Given the description of an element on the screen output the (x, y) to click on. 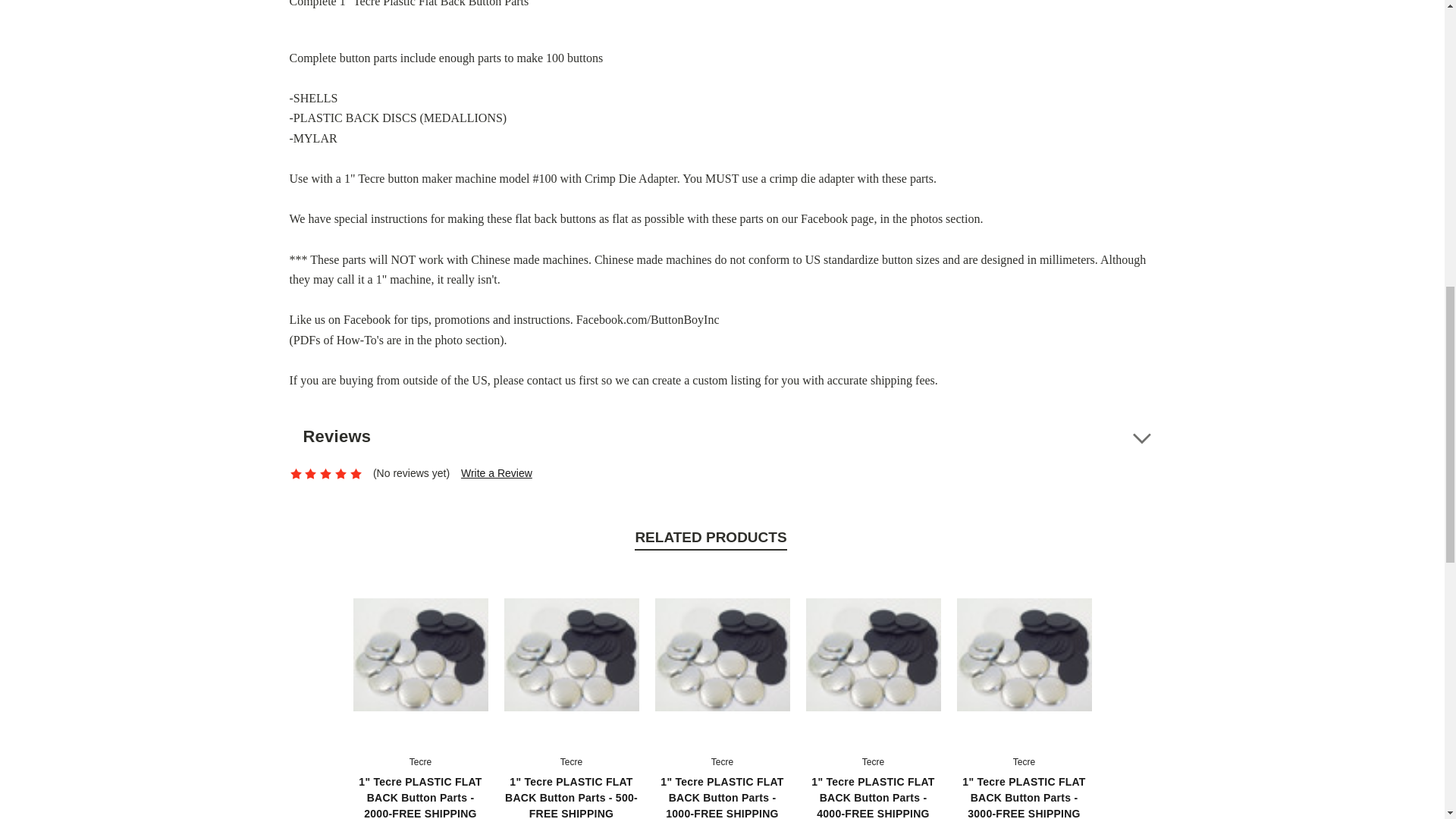
1" Tecre PLASTIC FLAT BACK Button Parts - 1000-FREE SHIPPING (722, 654)
1" Tecre PLASTIC FLAT BACK Button Parts - 4000-FREE SHIPPING (872, 654)
1" Tecre PLASTIC FLAT BACK Button Parts - 2000-FREE SHIPPING (420, 654)
1" Tecre PLASTIC FLAT BACK Button Parts - 3000-FREE SHIPPING (1024, 654)
1" Tecre PLASTIC FLAT BACK Button Parts - 500-FREE SHIPPING (571, 654)
